Given the description of an element on the screen output the (x, y) to click on. 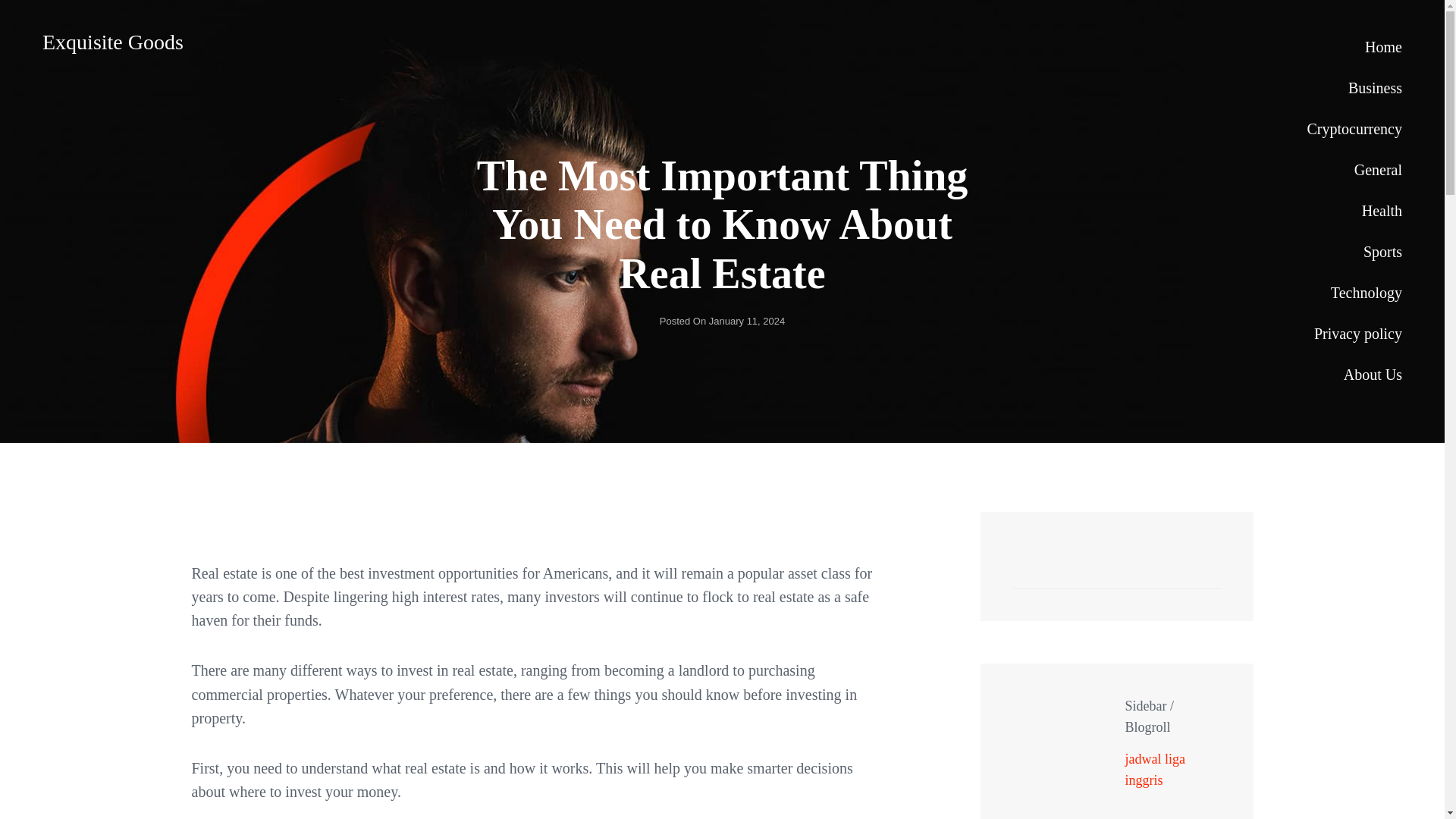
Health (1353, 210)
Business (1353, 87)
About Us (1353, 373)
Posted On January 11, 2024 (722, 320)
General (1353, 169)
Sports (1353, 250)
Cryptocurrency (1353, 128)
Exquisite Goods (112, 42)
SEARCH (1201, 572)
Privacy policy (1353, 332)
